Given the description of an element on the screen output the (x, y) to click on. 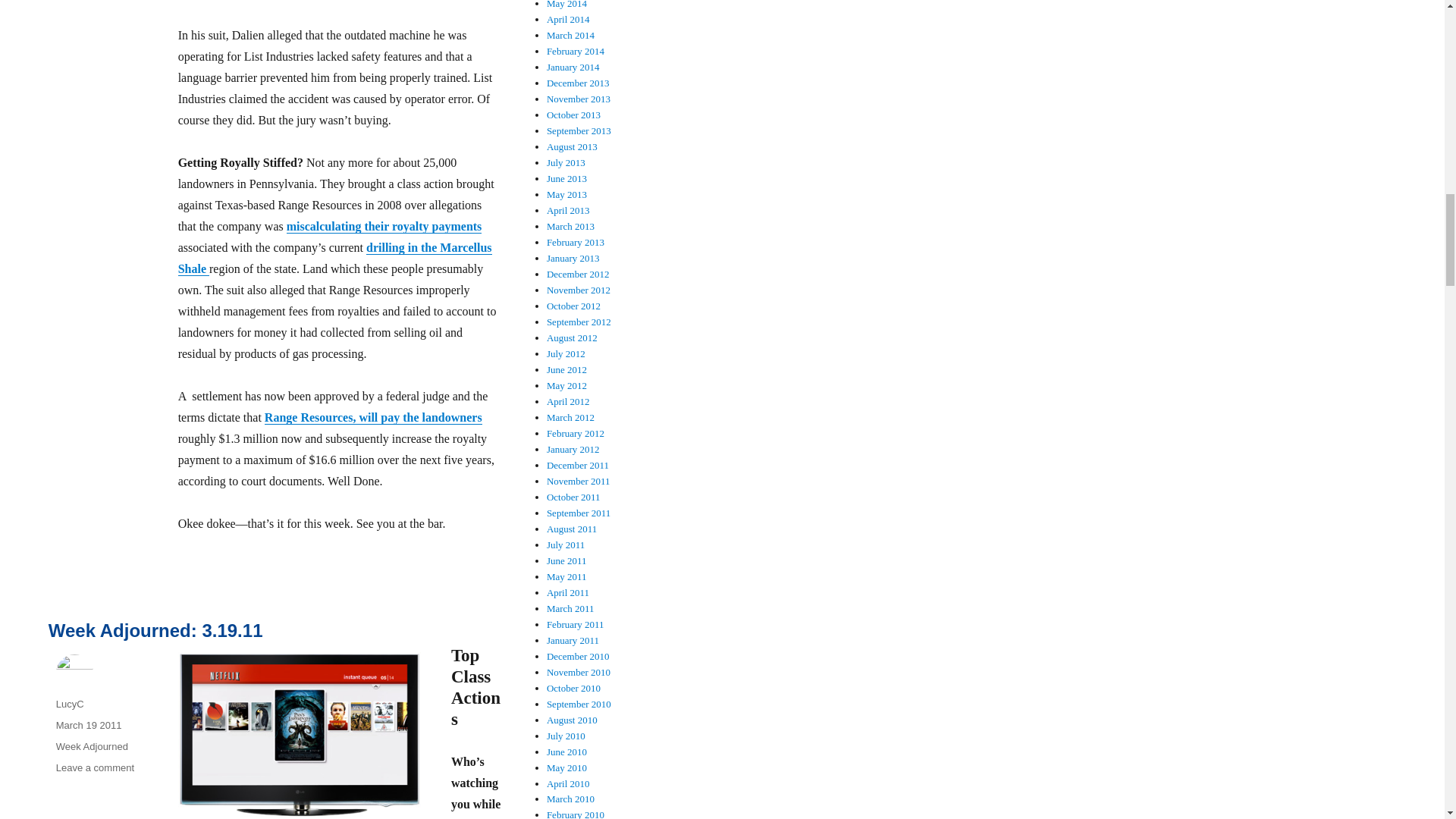
Week Adjourned: 3.19.11 (155, 629)
Netflix (298, 734)
miscalculating their royalty payments (383, 226)
Range Resources, will pay the landowners (372, 417)
drilling in the Marcellus Shale (334, 257)
